Given the description of an element on the screen output the (x, y) to click on. 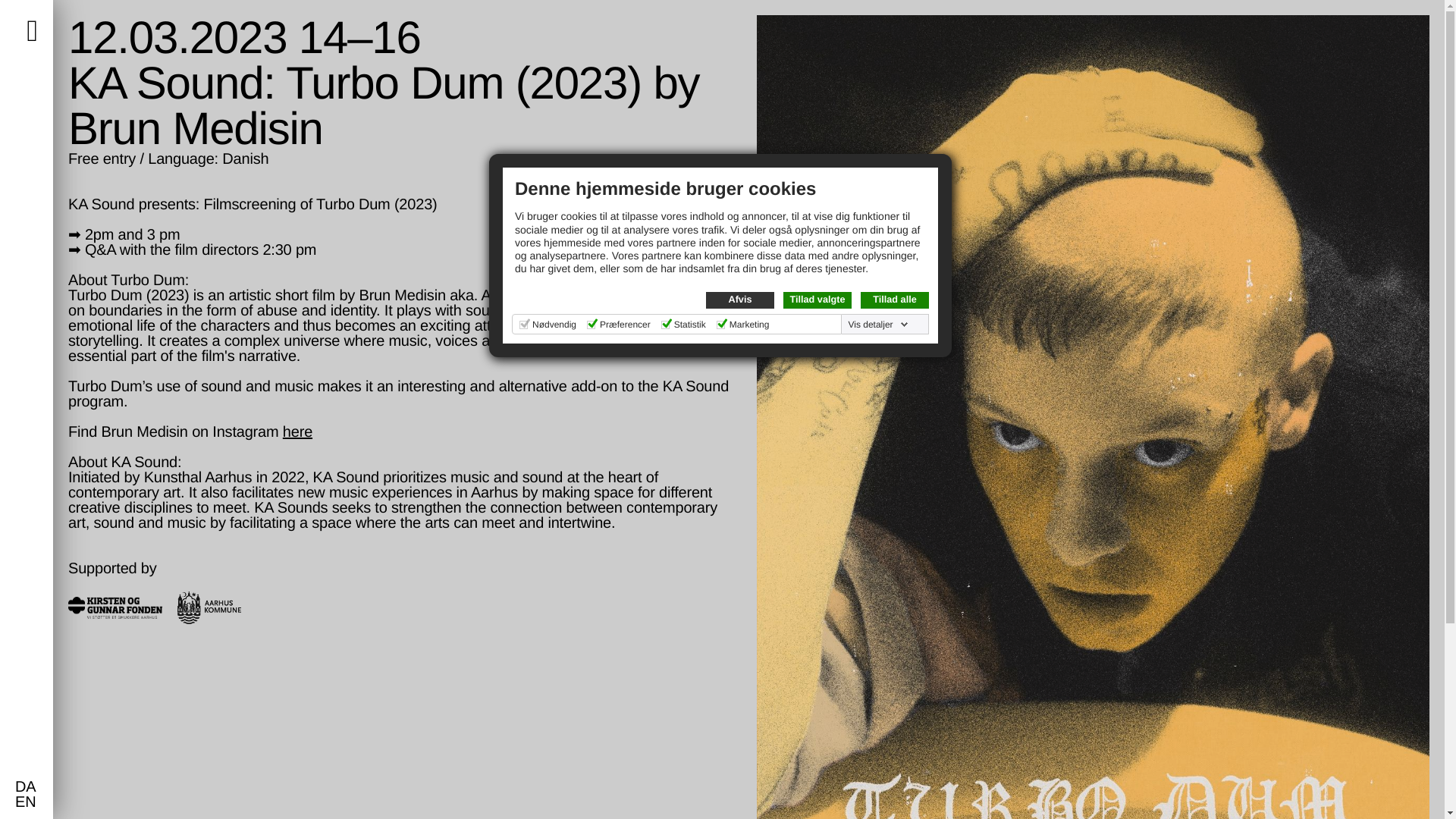
Tillad valgte (817, 299)
Afvis (740, 299)
Vis detaljer (877, 324)
Tillad alle (894, 299)
